Given the description of an element on the screen output the (x, y) to click on. 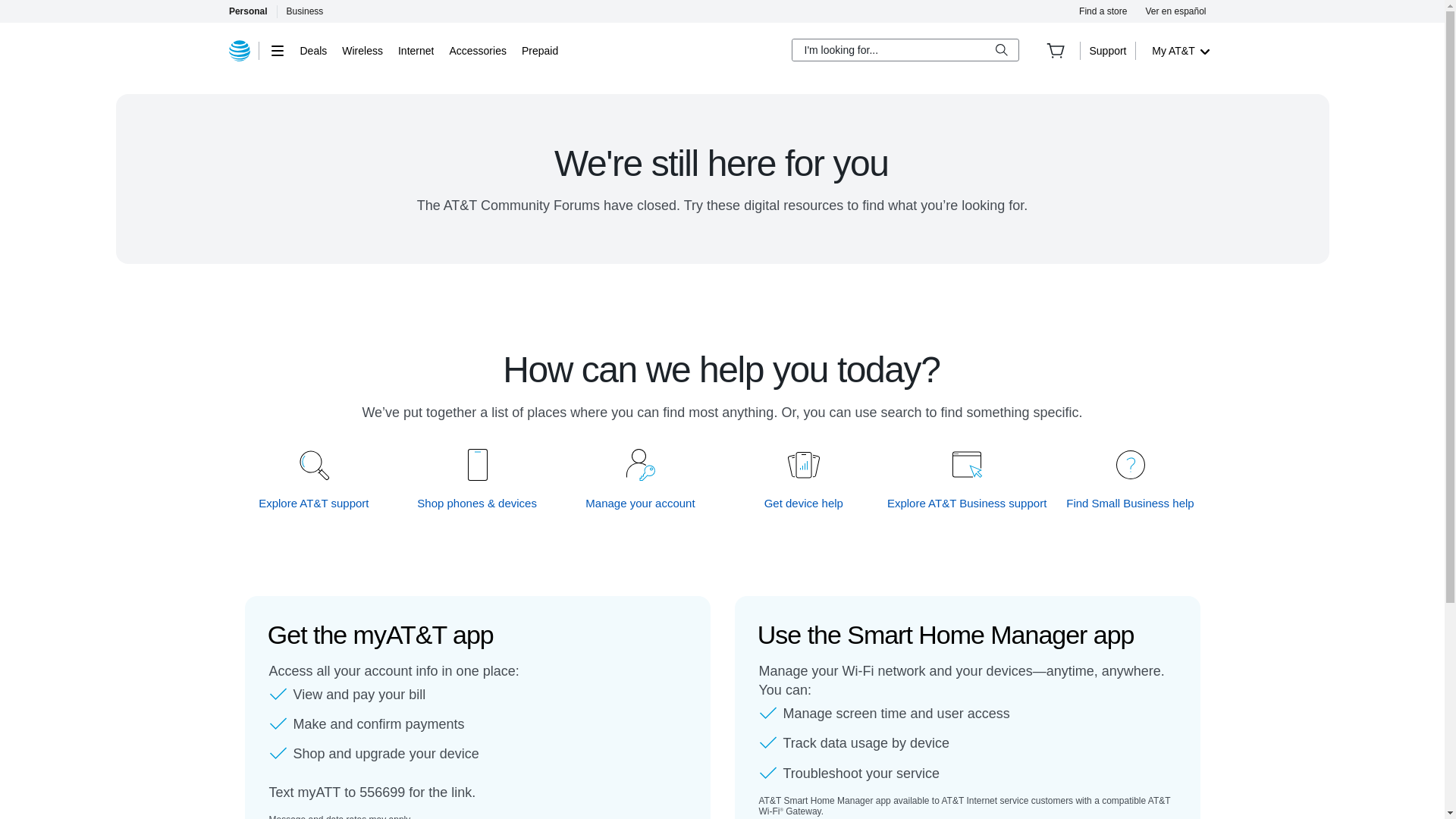
Support (1107, 50)
Internet (415, 50)
Personal (247, 10)
Manage your account (640, 503)
Wireless (362, 50)
Accessories (476, 50)
Search (1000, 50)
Business (305, 10)
Prepaid (539, 50)
Find a store (1102, 10)
Find Small Business help (1130, 503)
Get device help (803, 503)
Support (1107, 50)
